Given the description of an element on the screen output the (x, y) to click on. 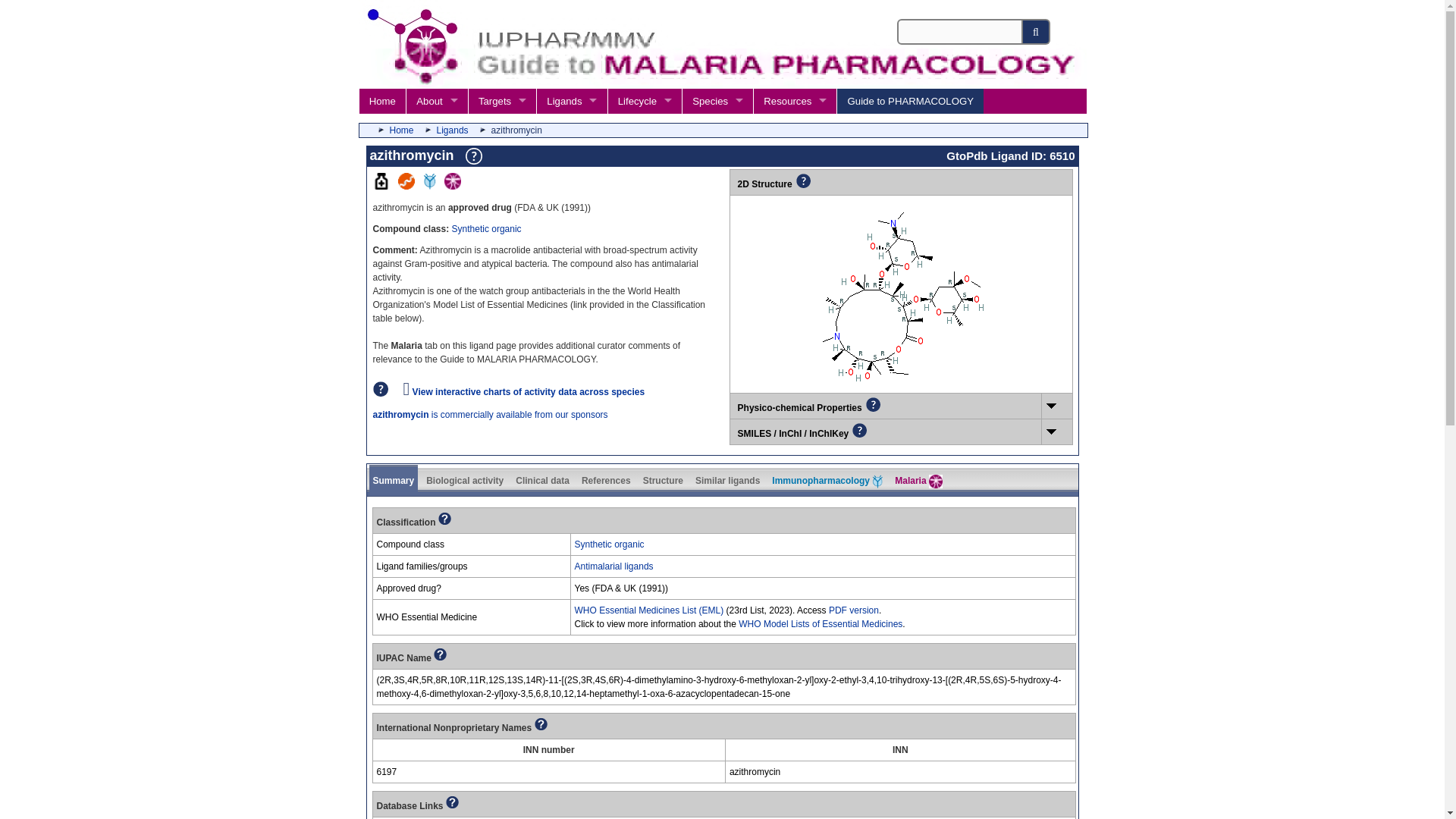
Ligand has a PDB structure (408, 185)
view physico-chemical properties (1056, 405)
Antimalarial ligand (455, 185)
Targets (501, 100)
toggle (1056, 405)
toggle (1056, 431)
Lifecycle (644, 100)
SMILES and InChI help (884, 430)
Approved drug (384, 185)
About (436, 100)
